Given the description of an element on the screen output the (x, y) to click on. 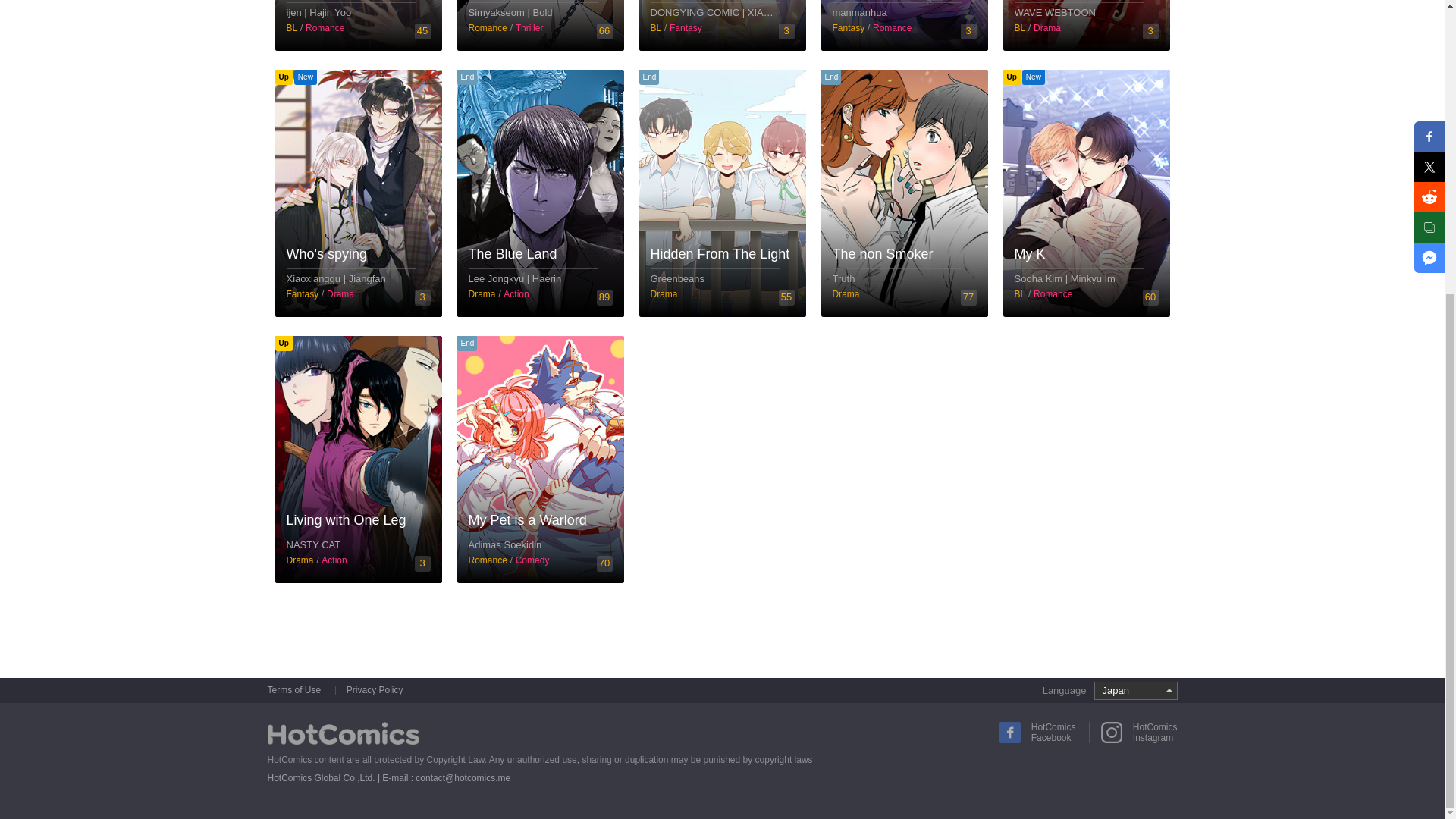
Terms of Use (298, 690)
Privacy Policy (374, 690)
Japan (1134, 691)
